Given the description of an element on the screen output the (x, y) to click on. 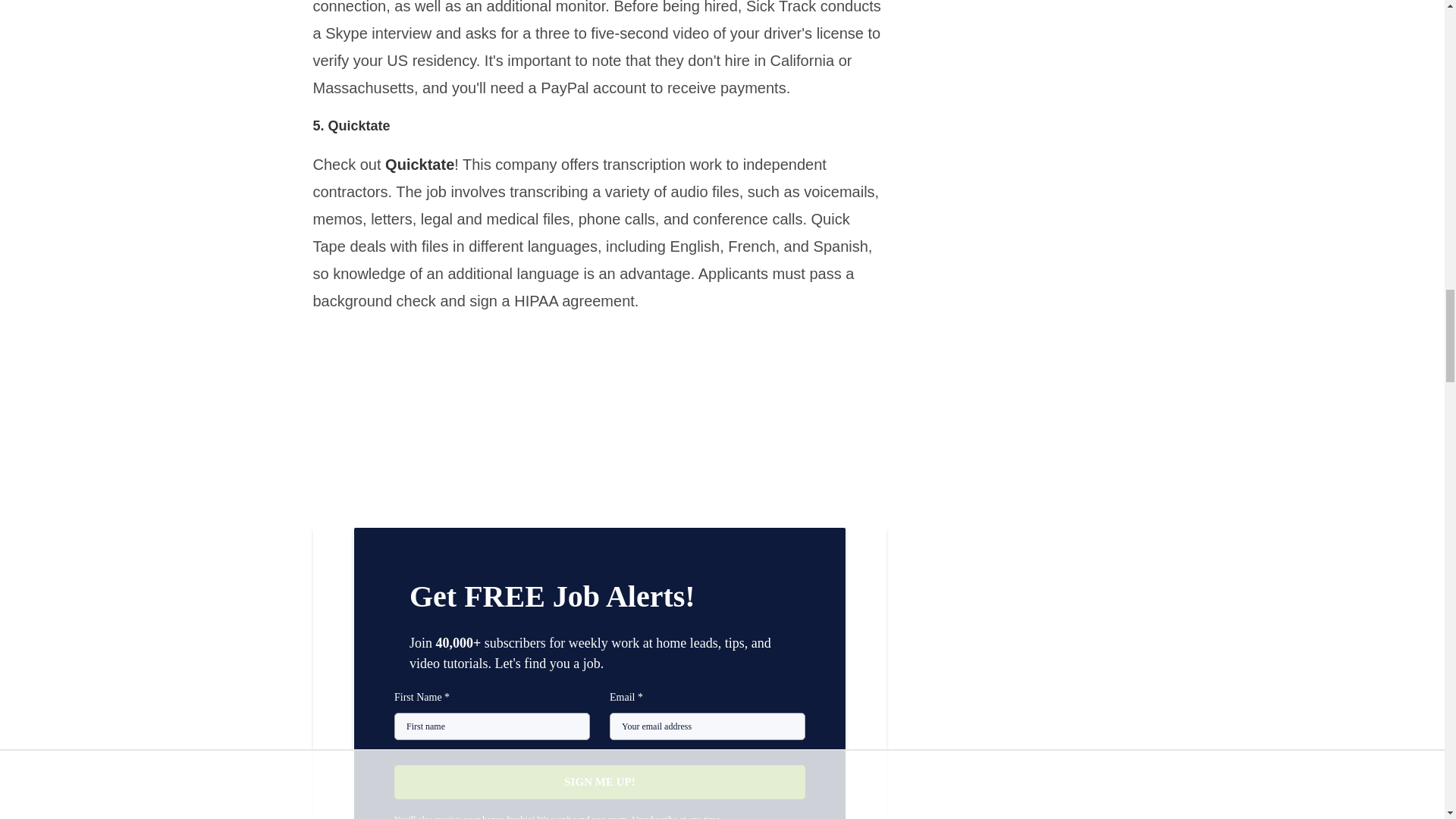
Quicktate (419, 164)
